Given the description of an element on the screen output the (x, y) to click on. 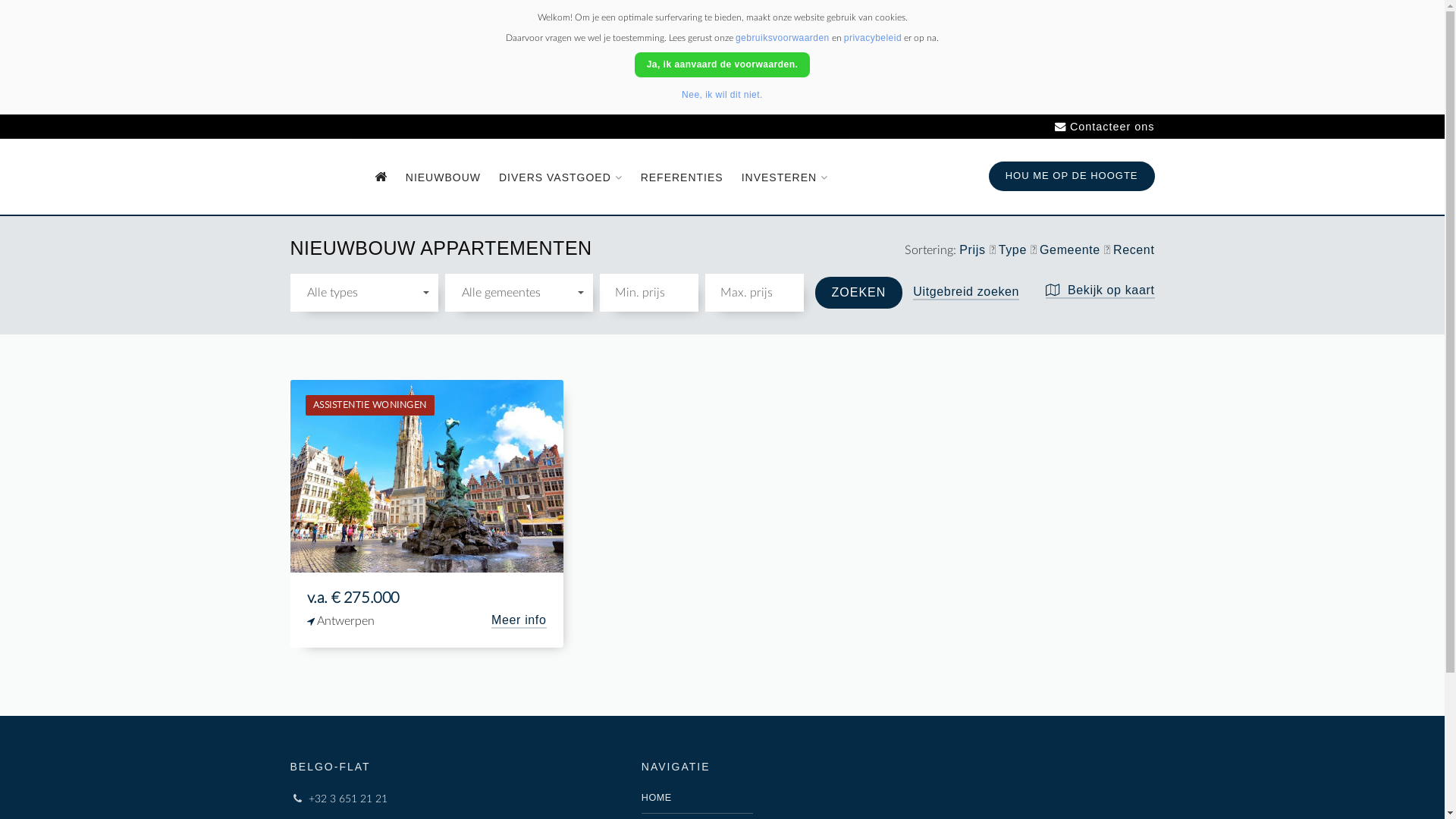
Zoeken Element type: text (858, 292)
HOU ME OP DE HOOGTE Element type: text (1071, 176)
Ja, ik aanvaard de voorwaarden. Element type: text (722, 64)
INVESTEREN Element type: text (784, 177)
Meer info Element type: text (518, 620)
Bekijk op kaart Element type: text (1099, 290)
gebruiksvoorwaarden Element type: text (782, 37)
NIEUWBOUW Element type: text (442, 177)
Alle types
  Element type: text (363, 292)
Type Element type: text (1014, 251)
HOME Element type: text (697, 798)
Antwerpen Element type: text (398, 620)
REFERENTIES Element type: text (681, 177)
DIVERS VASTGOED Element type: text (560, 177)
ASSISTENTIE WONINGEN Element type: text (425, 474)
Nee, ik wil dit niet. Element type: text (721, 94)
Prijs Element type: text (973, 251)
privacybeleid Element type: text (872, 37)
Alle gemeentes
  Element type: text (518, 292)
Recent Element type: text (1133, 251)
Contacteer ons Element type: text (1099, 126)
Uitgebreid zoeken Element type: text (966, 292)
Gemeente Element type: text (1071, 251)
